Given the description of an element on the screen output the (x, y) to click on. 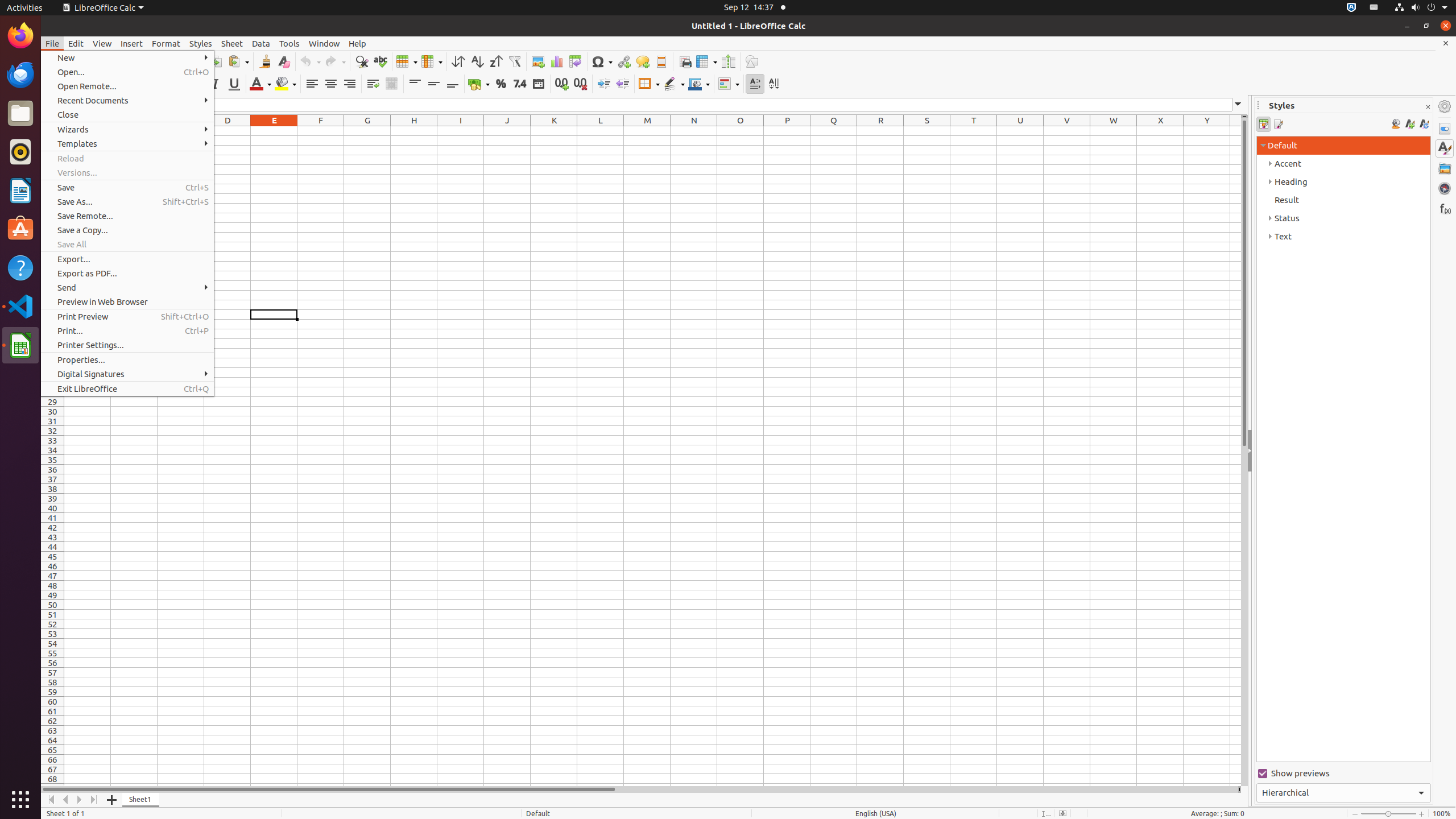
:1.21/StatusNotifierItem Element type: menu (1373, 7)
Export... Element type: menu-item (126, 258)
Row Element type: push-button (406, 61)
Gallery Element type: radio-button (1444, 168)
Functions Element type: radio-button (1444, 208)
